Given the description of an element on the screen output the (x, y) to click on. 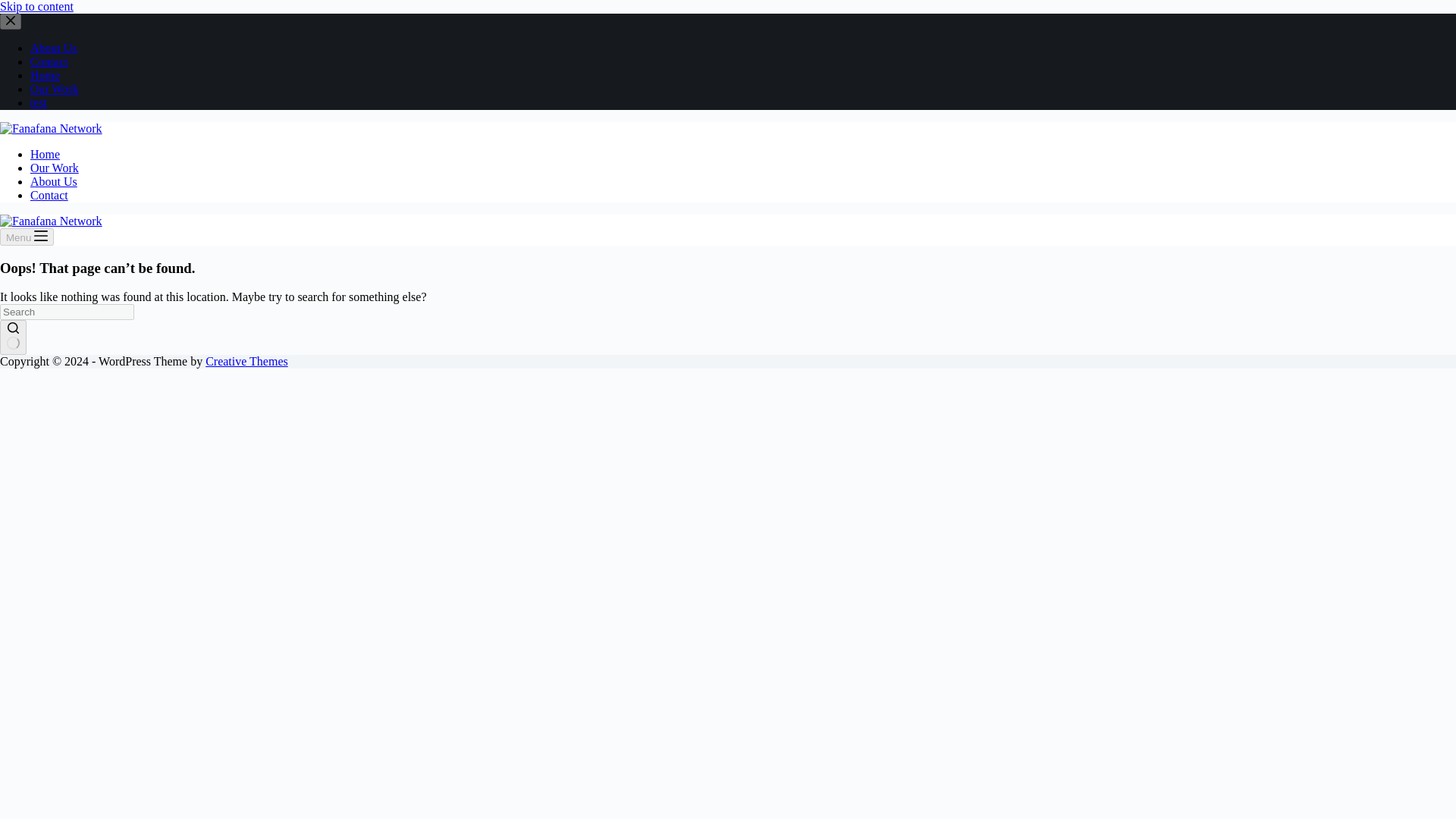
test (38, 102)
Contact (49, 195)
Contact (49, 61)
Menu (26, 236)
Skip to content (37, 6)
About Us (53, 181)
Home (44, 154)
About Us (53, 47)
Our Work (54, 88)
Home (44, 74)
